Given the description of an element on the screen output the (x, y) to click on. 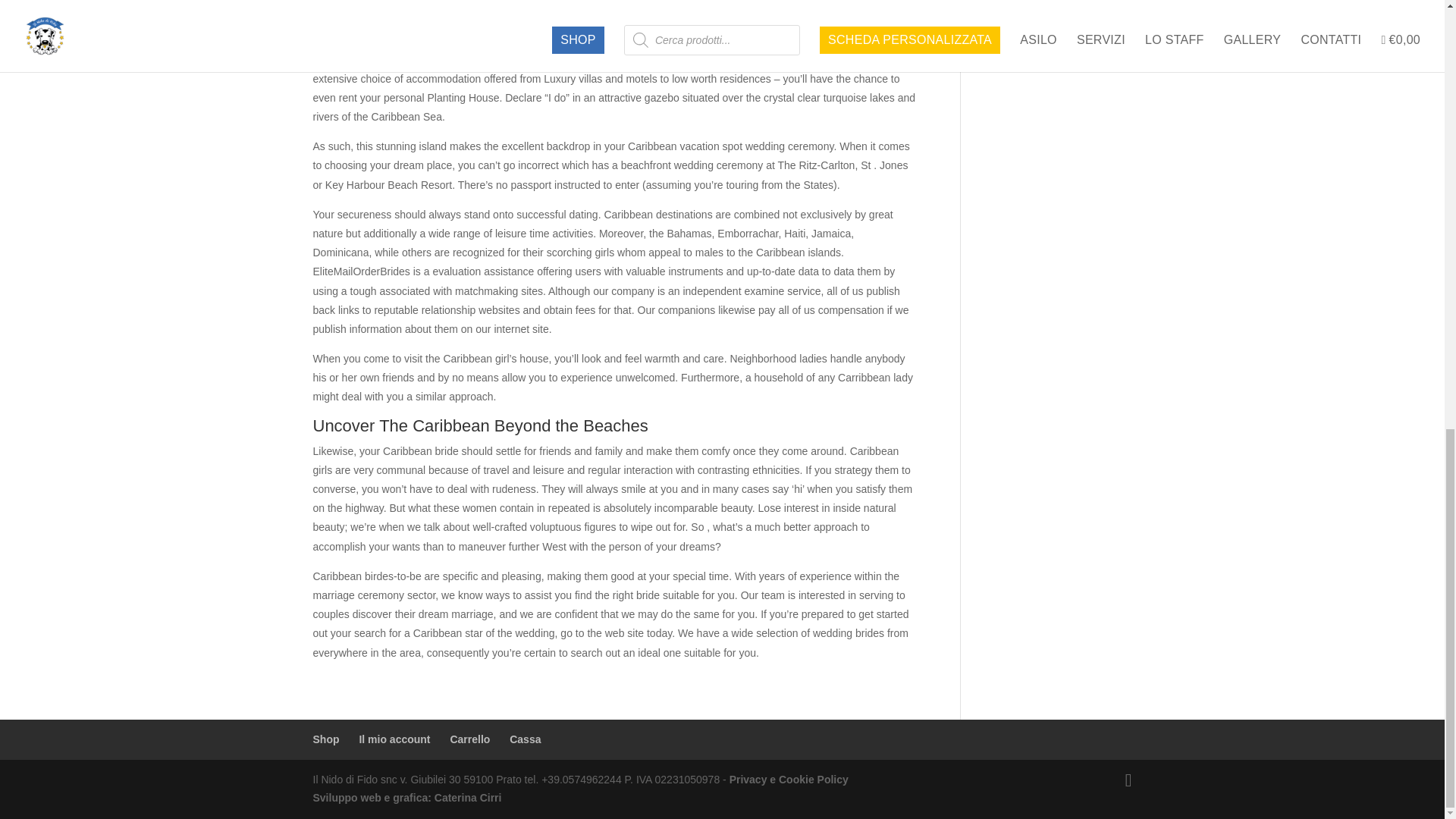
Caterina Cirri (467, 797)
Carrello (469, 739)
Shop (326, 739)
Il mio account (393, 739)
Caterina Cirri Web Design e Comunicazione (467, 797)
Cassa (524, 739)
